Given the description of an element on the screen output the (x, y) to click on. 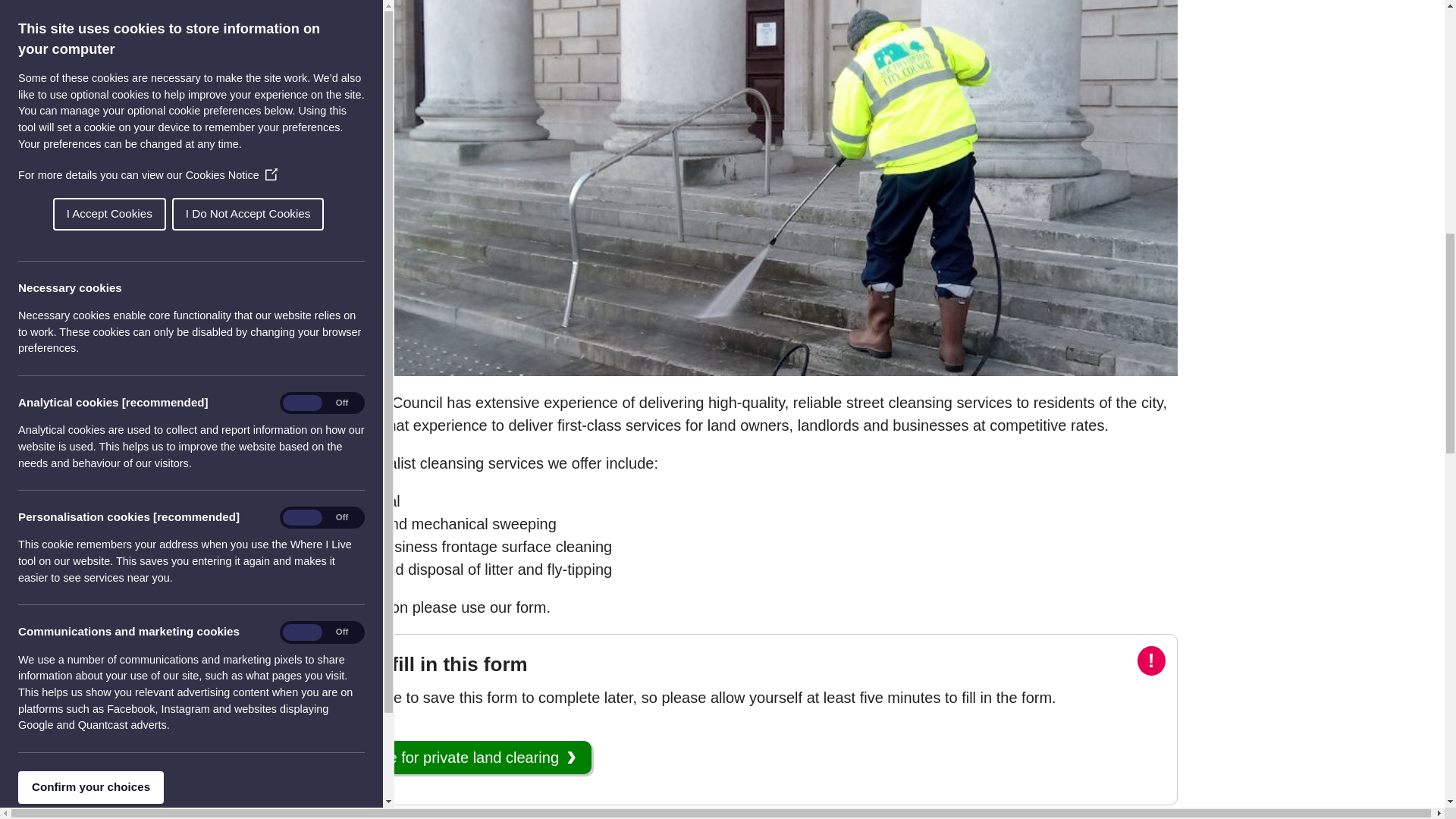
Request quote for private land clearing (437, 757)
